Given the description of an element on the screen output the (x, y) to click on. 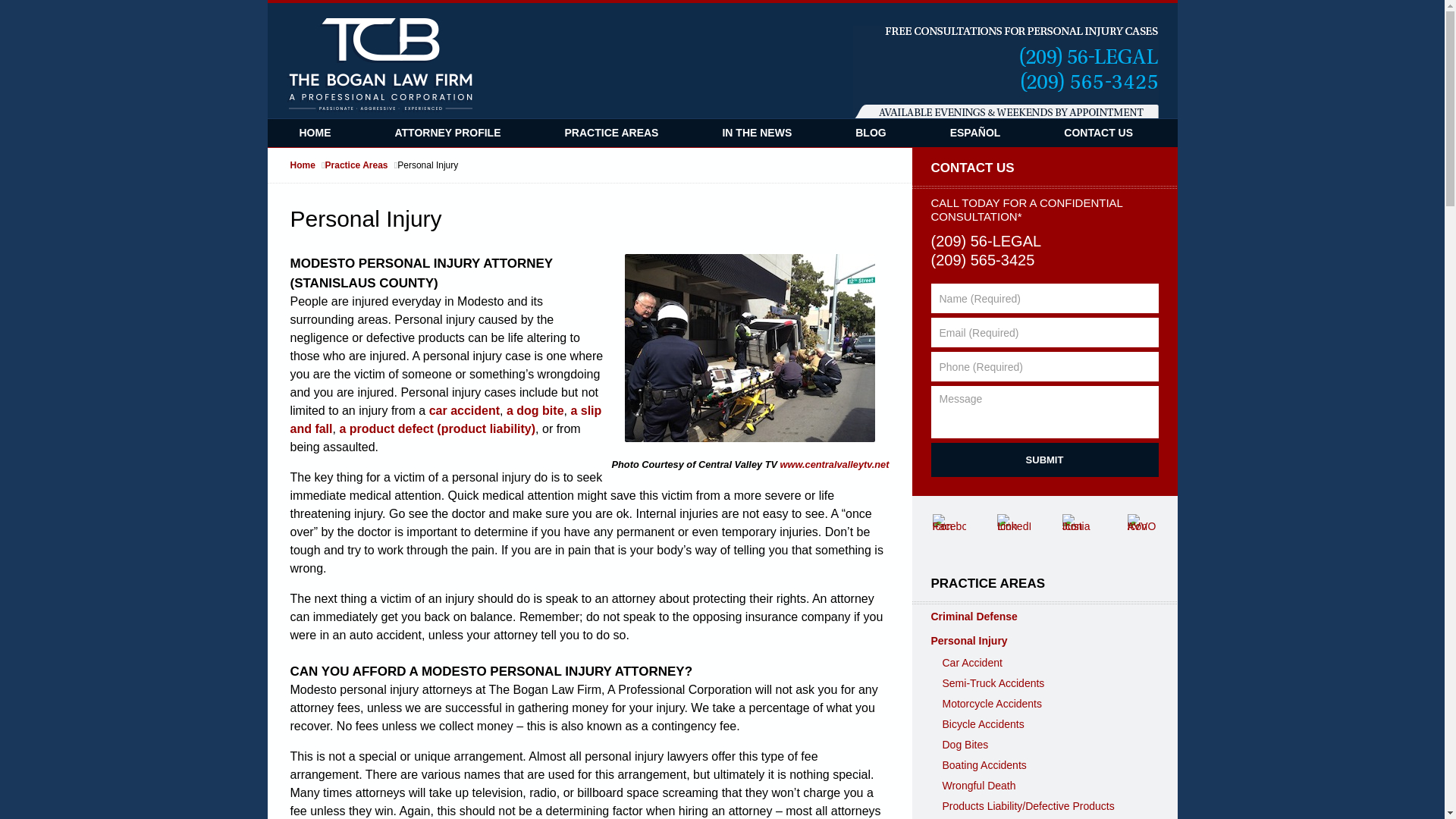
Motorcycle Accidents Element type: text (1043, 703)
BLOG Element type: text (870, 133)
Semi-Truck Accidents Element type: text (1043, 683)
LinkedIn Element type: hover (1013, 530)
CONTACT US Element type: text (1098, 133)
a slip and fall Element type: text (445, 419)
CONTACT US Element type: text (1044, 168)
Wrongful Death Element type: text (1043, 785)
Boating Accidents Element type: text (1043, 765)
www.centralvalleytv.net Element type: text (834, 464)
Practice Areas Element type: text (361, 165)
ATTORNEY PROFILE Element type: text (447, 133)
a product defect (product liability) Element type: text (436, 428)
IN THE NEWS Element type: text (756, 133)
SUBMIT Element type: text (1044, 459)
Criminal Defense Element type: text (1043, 615)
Car Accident Element type: text (1043, 662)
car accident Element type: text (464, 410)
a dog bite Element type: text (535, 410)
Bicycle Accidents Element type: text (1043, 724)
Dog Bites Element type: text (1043, 744)
Justia Element type: hover (1078, 530)
Home Element type: text (306, 165)
Facebook Element type: hover (949, 530)
Modesto Accident Lawyer The Bogan Law Firm Home Element type: text (379, 65)
Contact Turlock Injury Attorney The Bogan Law Firm Element type: text (1004, 72)
Products Liability/Defective Products Element type: text (1043, 806)
PRACTICE AREAS Element type: text (1044, 583)
PRACTICE AREAS Element type: text (611, 133)
HOME Element type: text (314, 133)
AVVO Element type: hover (1144, 530)
Personal Injury Element type: text (1043, 639)
